Given the description of an element on the screen output the (x, y) to click on. 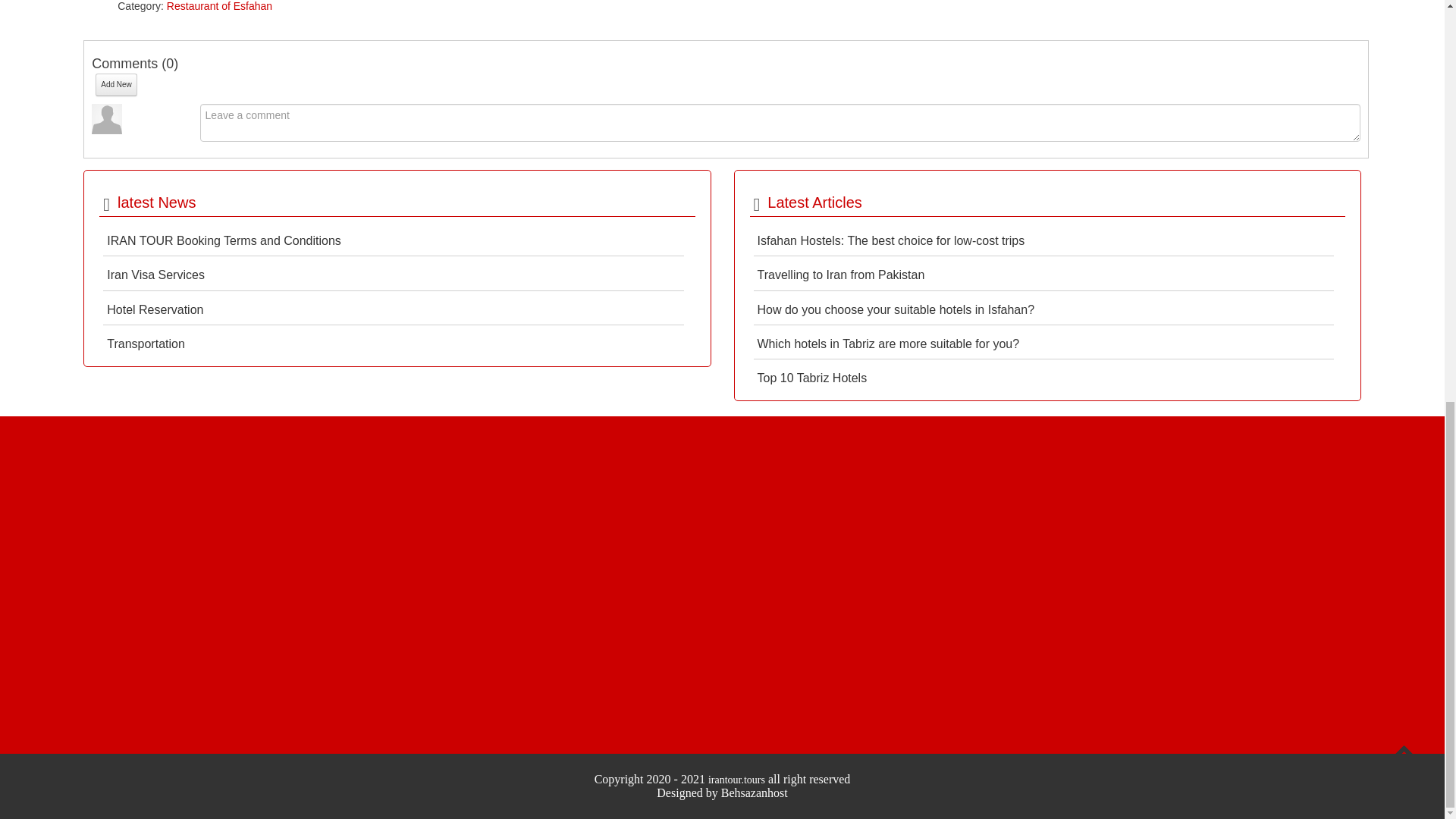
Add New (116, 84)
